Given the description of an element on the screen output the (x, y) to click on. 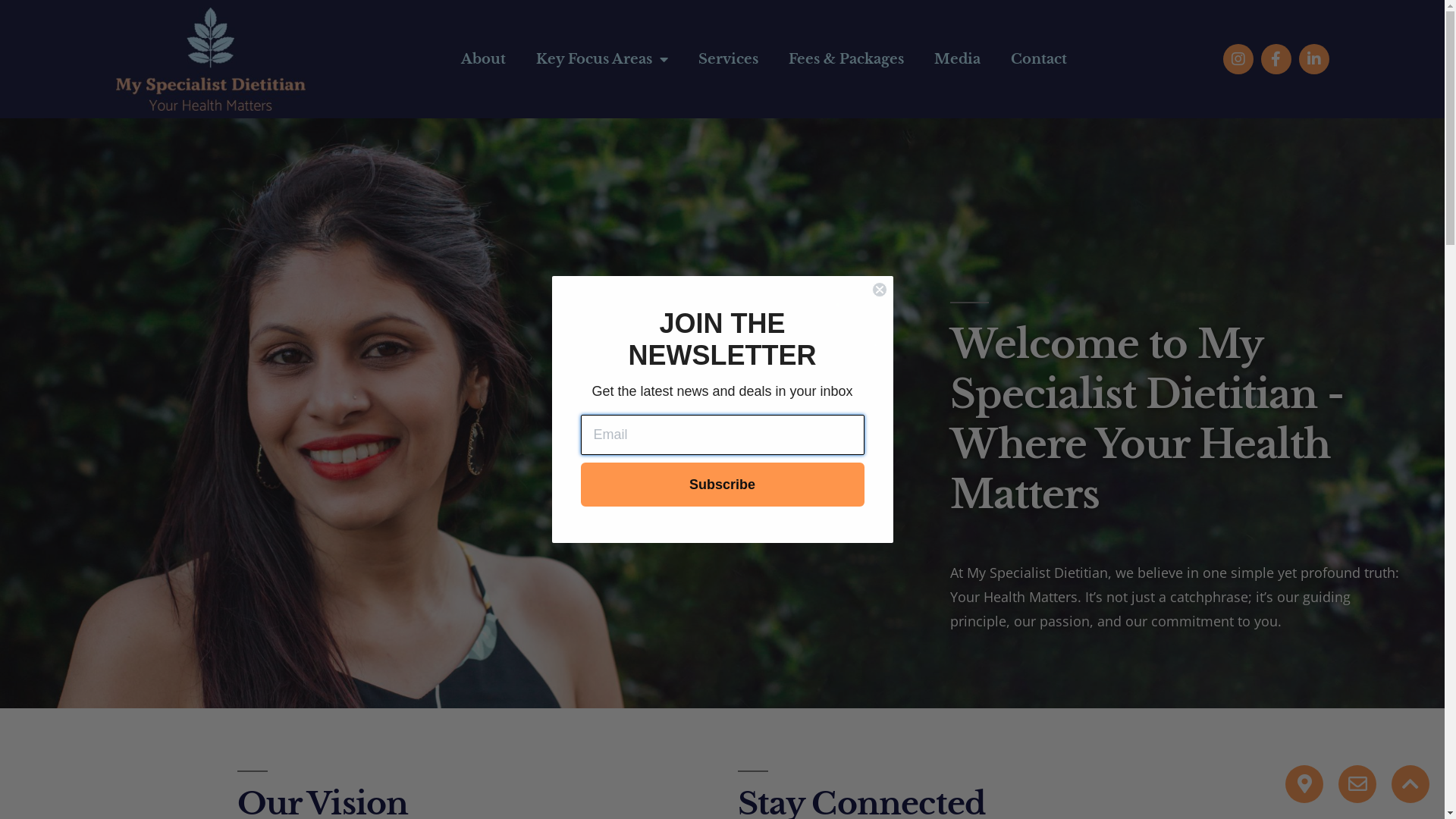
Services Element type: text (728, 58)
Close dialog 1 Element type: text (879, 289)
Subscribe Element type: text (722, 484)
About Element type: text (482, 58)
Fees & Packages Element type: text (846, 58)
Submit Element type: text (34, 19)
Key Focus Areas Element type: text (601, 58)
Media Element type: text (957, 58)
Contact Element type: text (1038, 58)
